Given the description of an element on the screen output the (x, y) to click on. 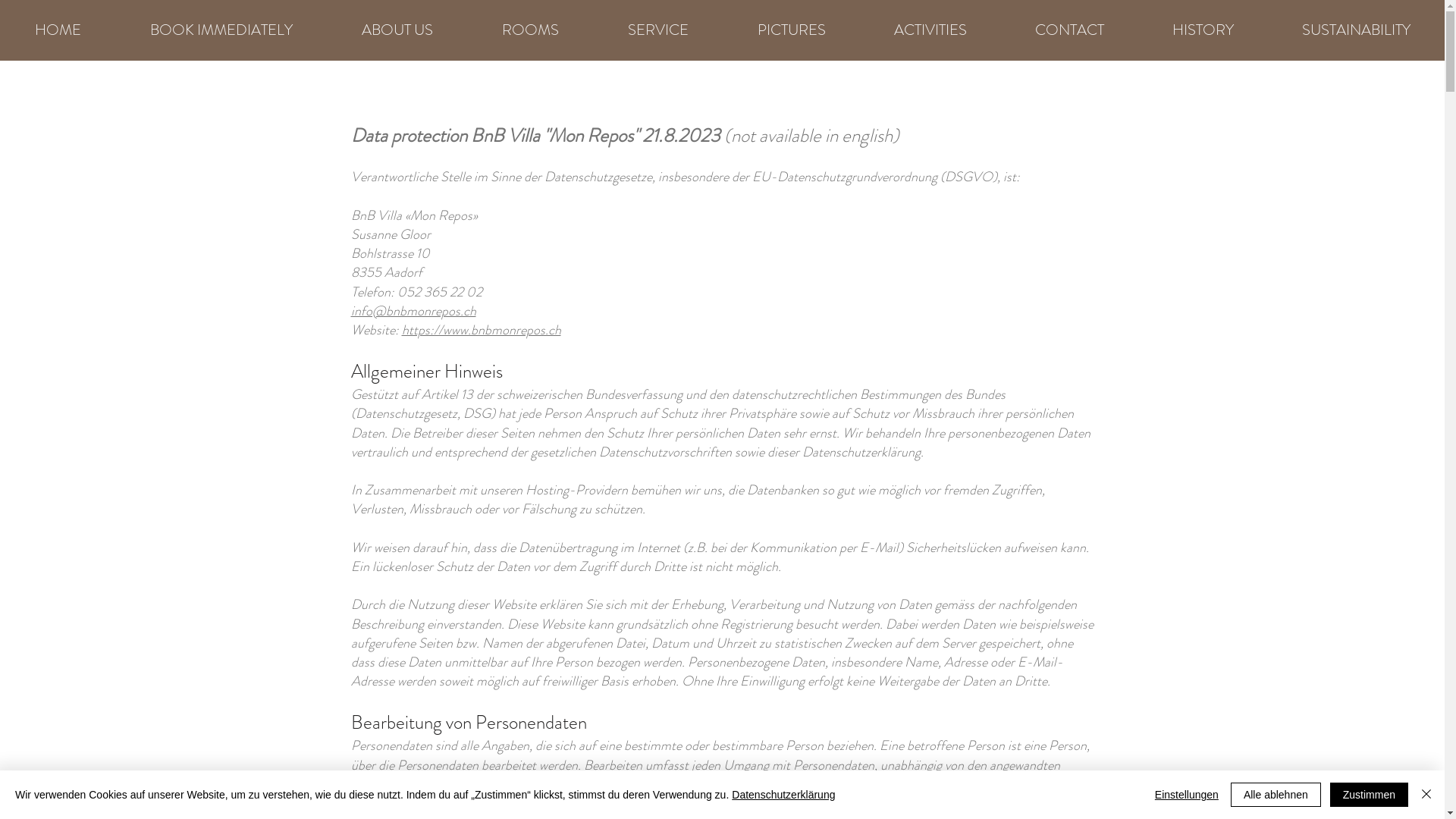
SUSTAINABILITY Element type: text (1355, 30)
info@bnbmonrepos.ch Element type: text (412, 310)
BOOK IMMEDIATELY Element type: text (220, 30)
ROOMS Element type: text (530, 30)
Alle ablehnen Element type: text (1275, 794)
Zustimmen Element type: text (1369, 794)
SERVICE Element type: text (657, 30)
ACTIVITIES Element type: text (930, 30)
https://www.bnbmonrepos.ch Element type: text (481, 329)
HISTORY Element type: text (1202, 30)
CONTACT Element type: text (1069, 30)
HOME Element type: text (57, 30)
ABOUT US Element type: text (396, 30)
PICTURES Element type: text (790, 30)
